Given the description of an element on the screen output the (x, y) to click on. 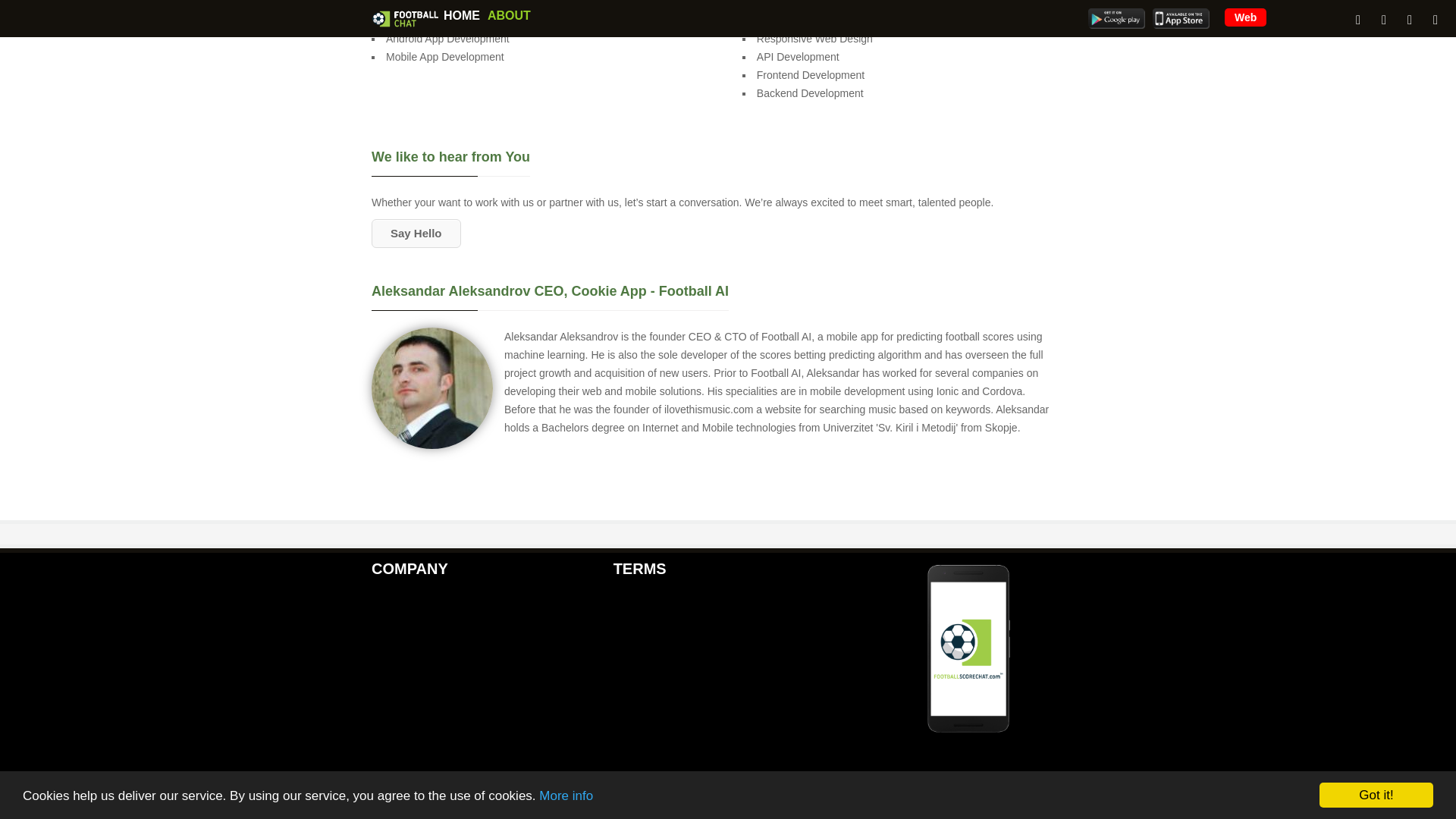
Aleksandar Aleksandrov (432, 387)
Say Hello (416, 233)
